Given the description of an element on the screen output the (x, y) to click on. 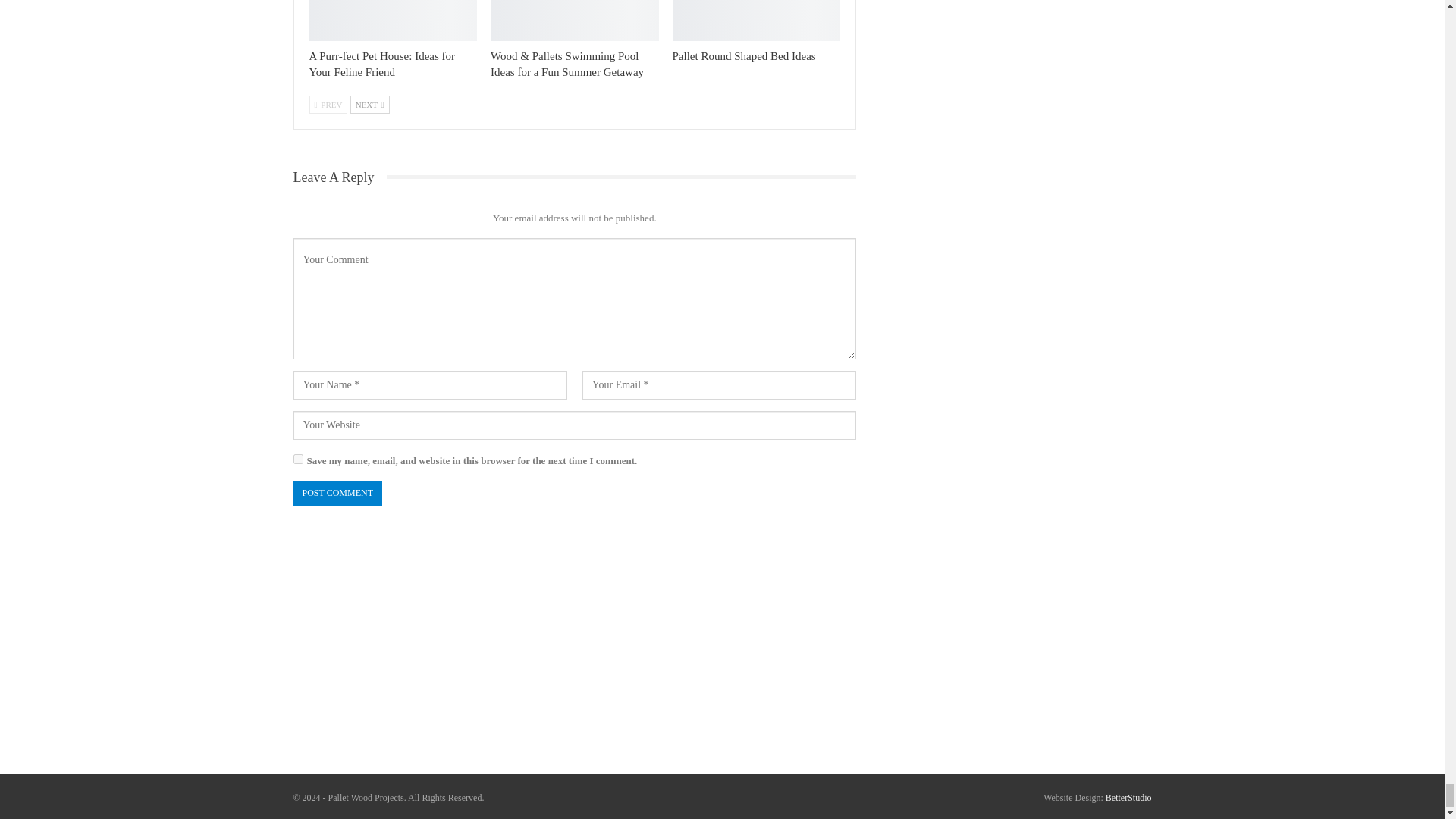
A Purr-fect Pet House: Ideas for Your Feline Friend (381, 63)
Next (370, 104)
Post Comment (336, 493)
yes (297, 459)
A Purr-fect Pet House: Ideas for Your Feline Friend (392, 20)
Previous (327, 104)
Pallet Round Shaped Bed Ideas (756, 20)
Pallet Round Shaped Bed Ideas (743, 55)
